Given the description of an element on the screen output the (x, y) to click on. 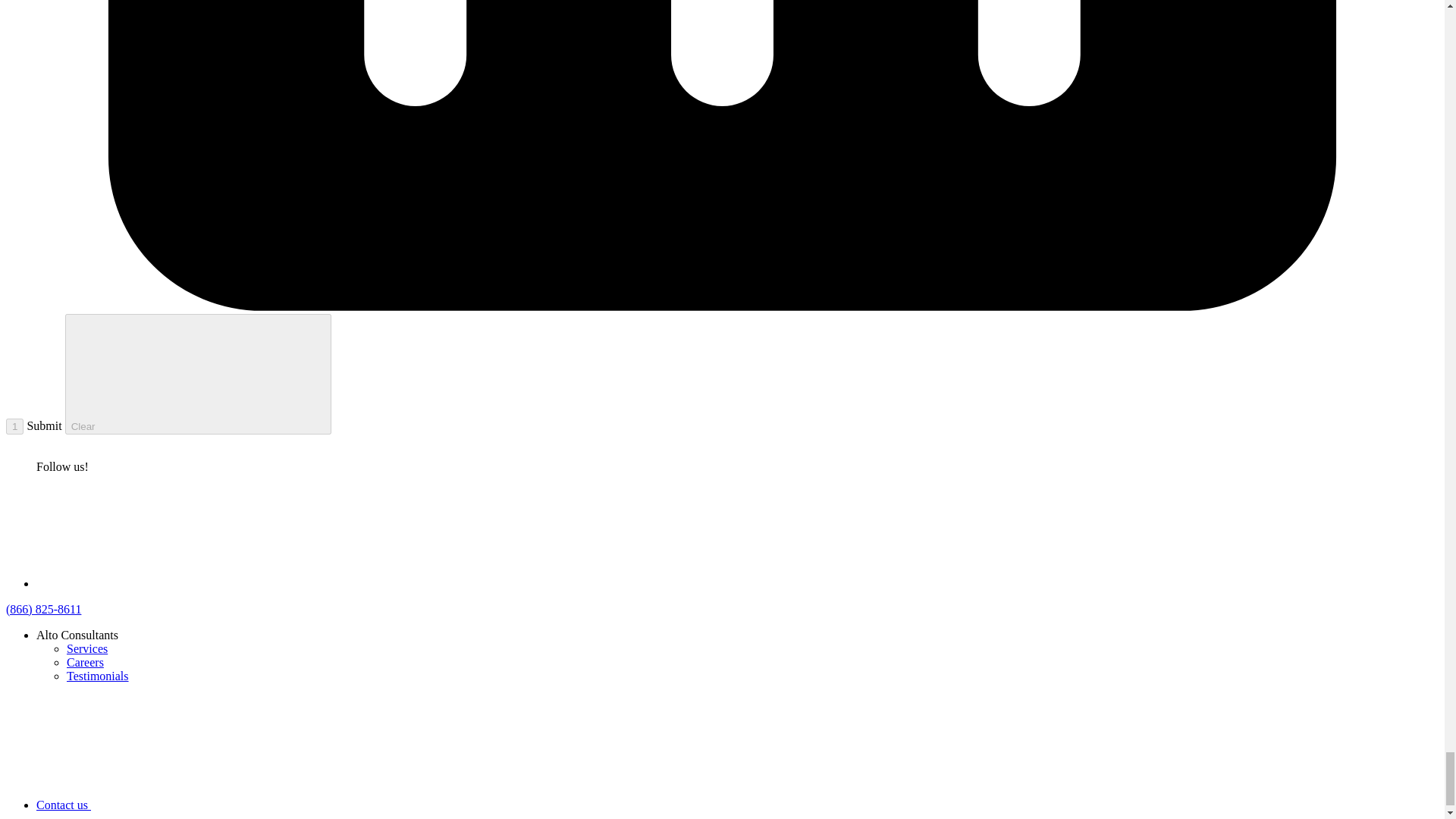
Clear (198, 373)
Contact us (177, 803)
1 (14, 426)
Careers (84, 661)
Testimonials (97, 675)
Testimonials (97, 675)
1 (14, 426)
Services (86, 647)
Services (86, 647)
Clear (198, 373)
